Given the description of an element on the screen output the (x, y) to click on. 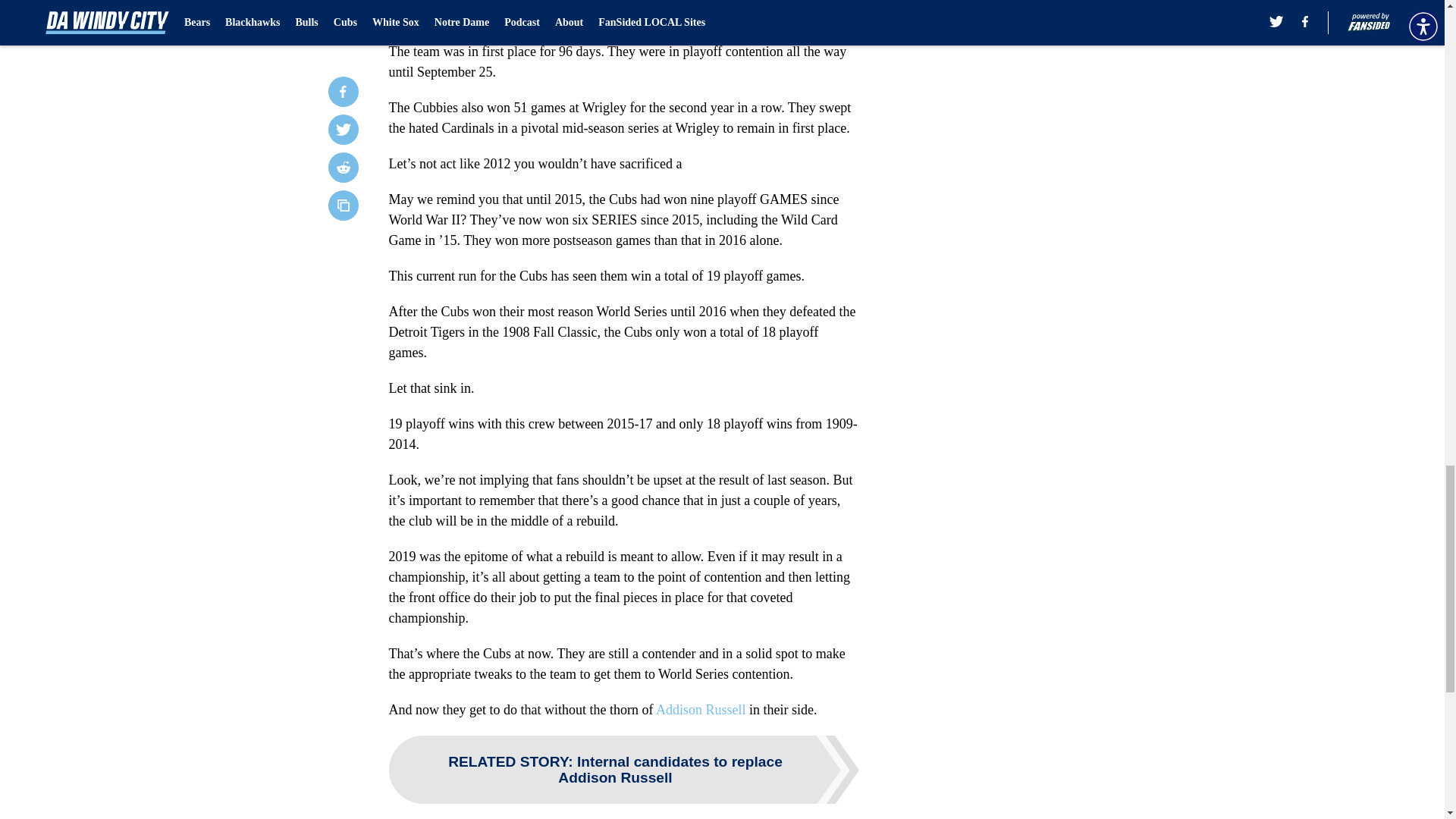
Addison Russell (700, 709)
